Given the description of an element on the screen output the (x, y) to click on. 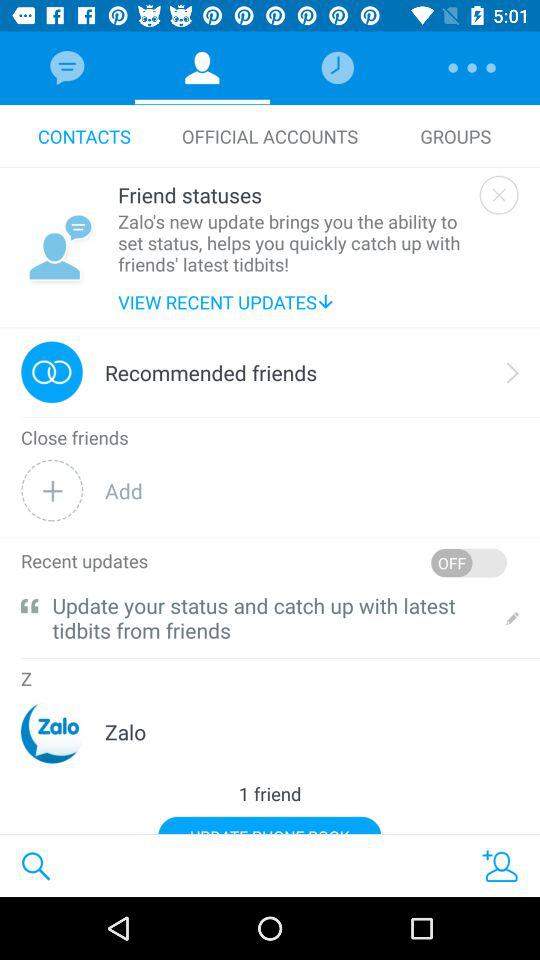
launch item to the right of the official accounts (455, 136)
